Given the description of an element on the screen output the (x, y) to click on. 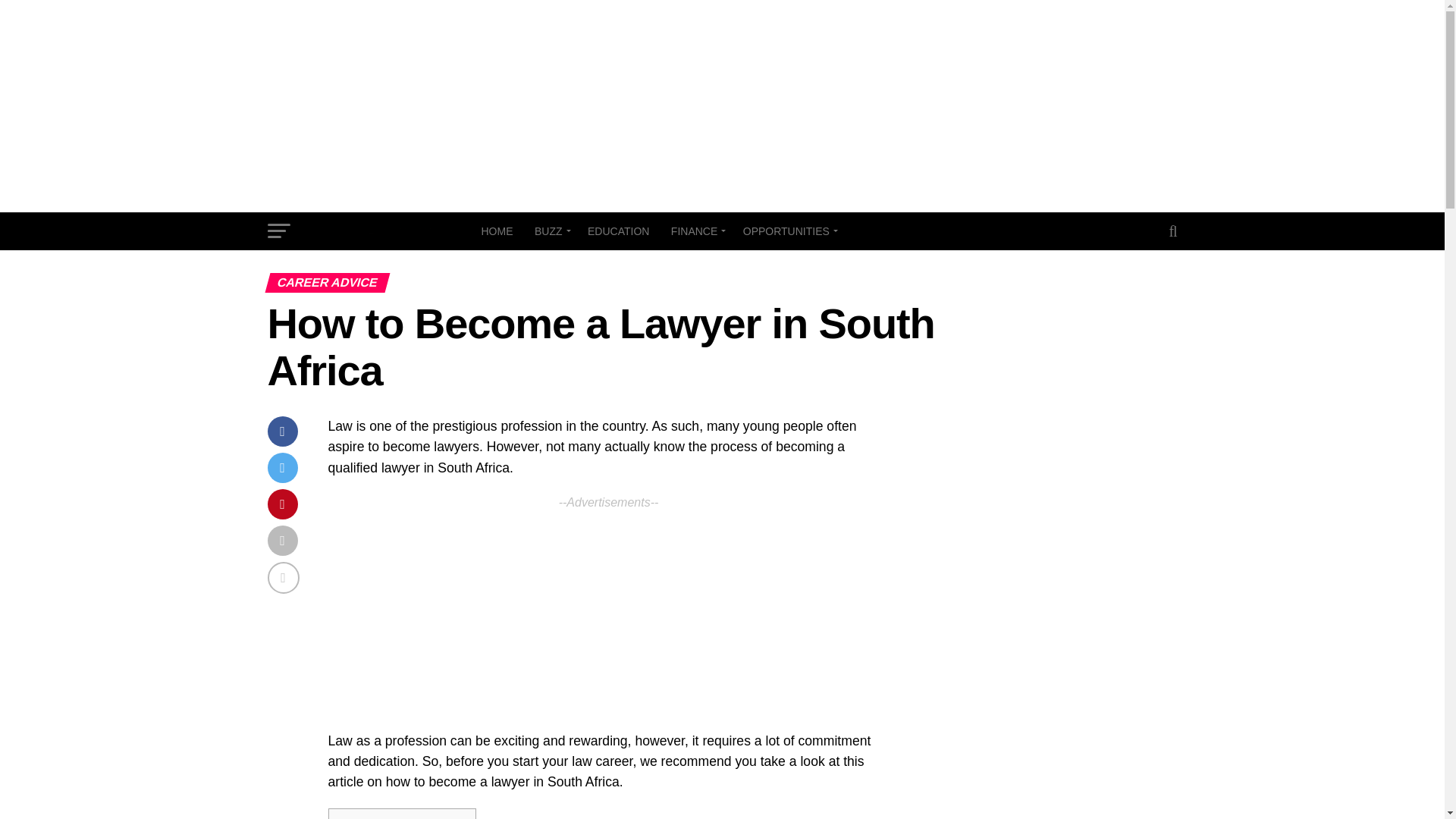
BUZZ (550, 231)
HOME (496, 231)
FINANCE (696, 231)
EDUCATION (618, 231)
OPPORTUNITIES (788, 231)
Advertisement (607, 618)
